Given the description of an element on the screen output the (x, y) to click on. 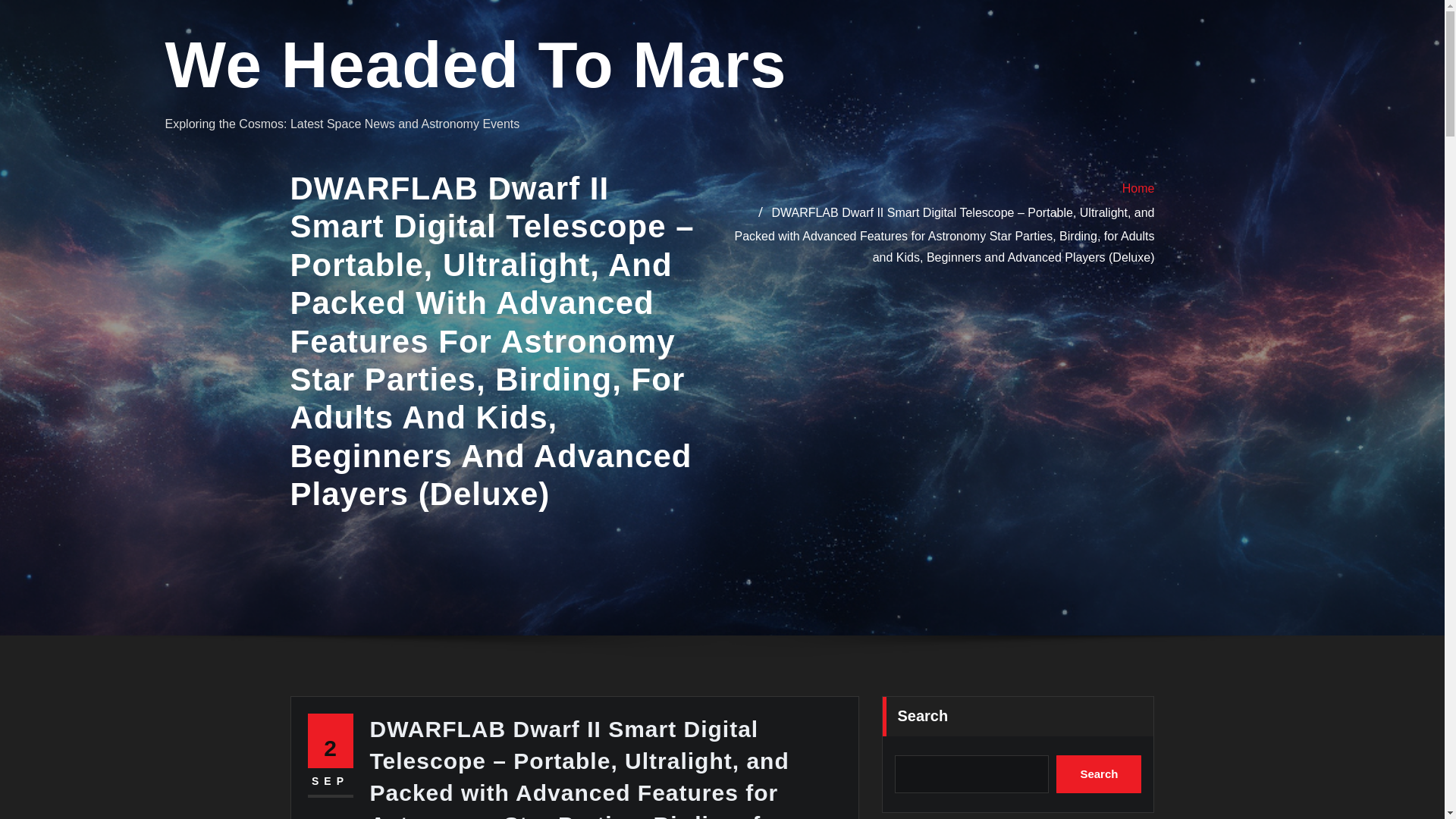
We Headed To Mars (476, 64)
Search (1099, 774)
Home (1138, 187)
